Given the description of an element on the screen output the (x, y) to click on. 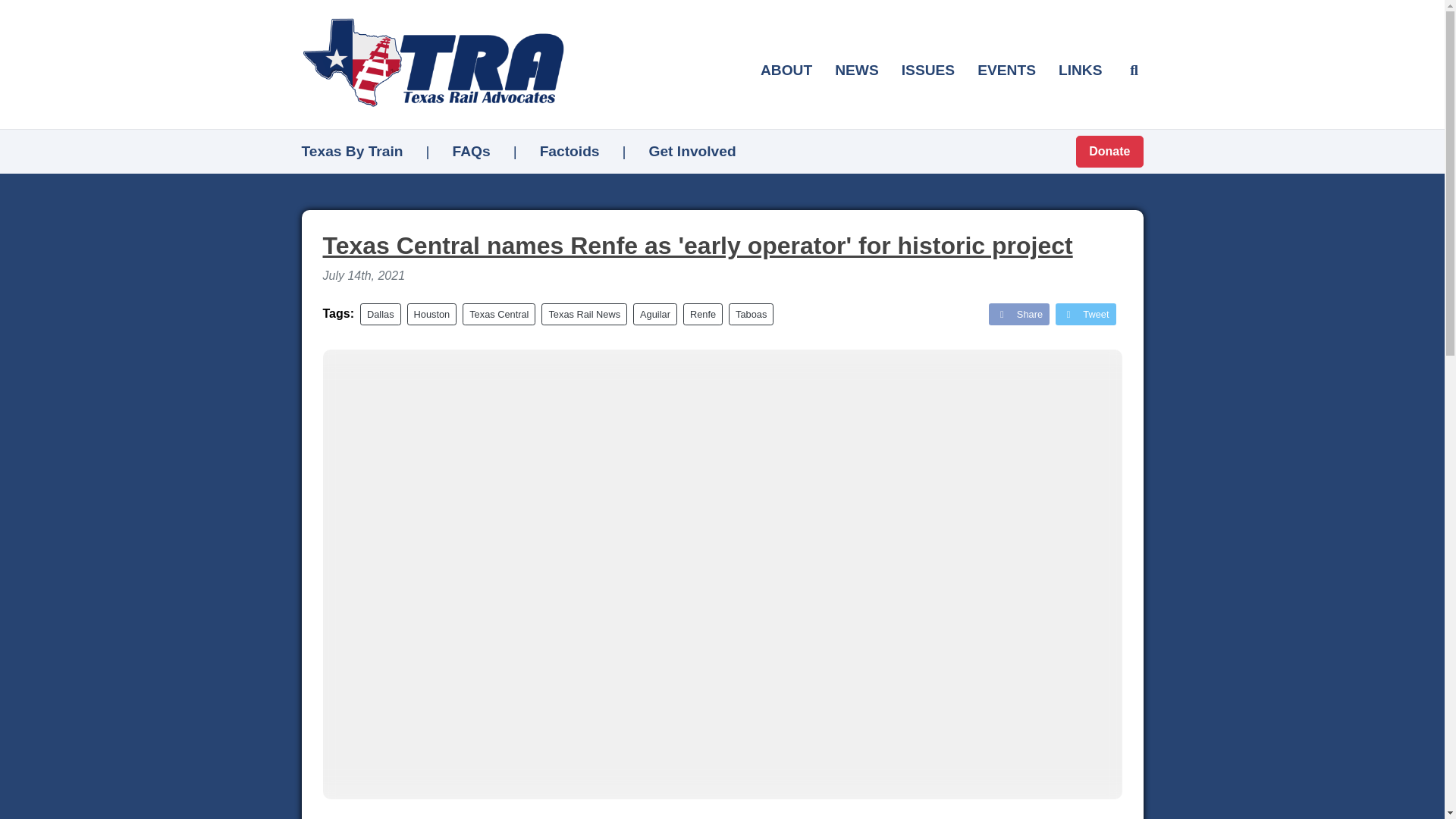
Houston (432, 314)
Aguilar (655, 314)
NEWS (856, 69)
Donate (1108, 151)
Tweet (1085, 314)
Dallas (380, 314)
LINKS (1080, 69)
Renfe (702, 314)
Texas By Train (352, 150)
